Given the description of an element on the screen output the (x, y) to click on. 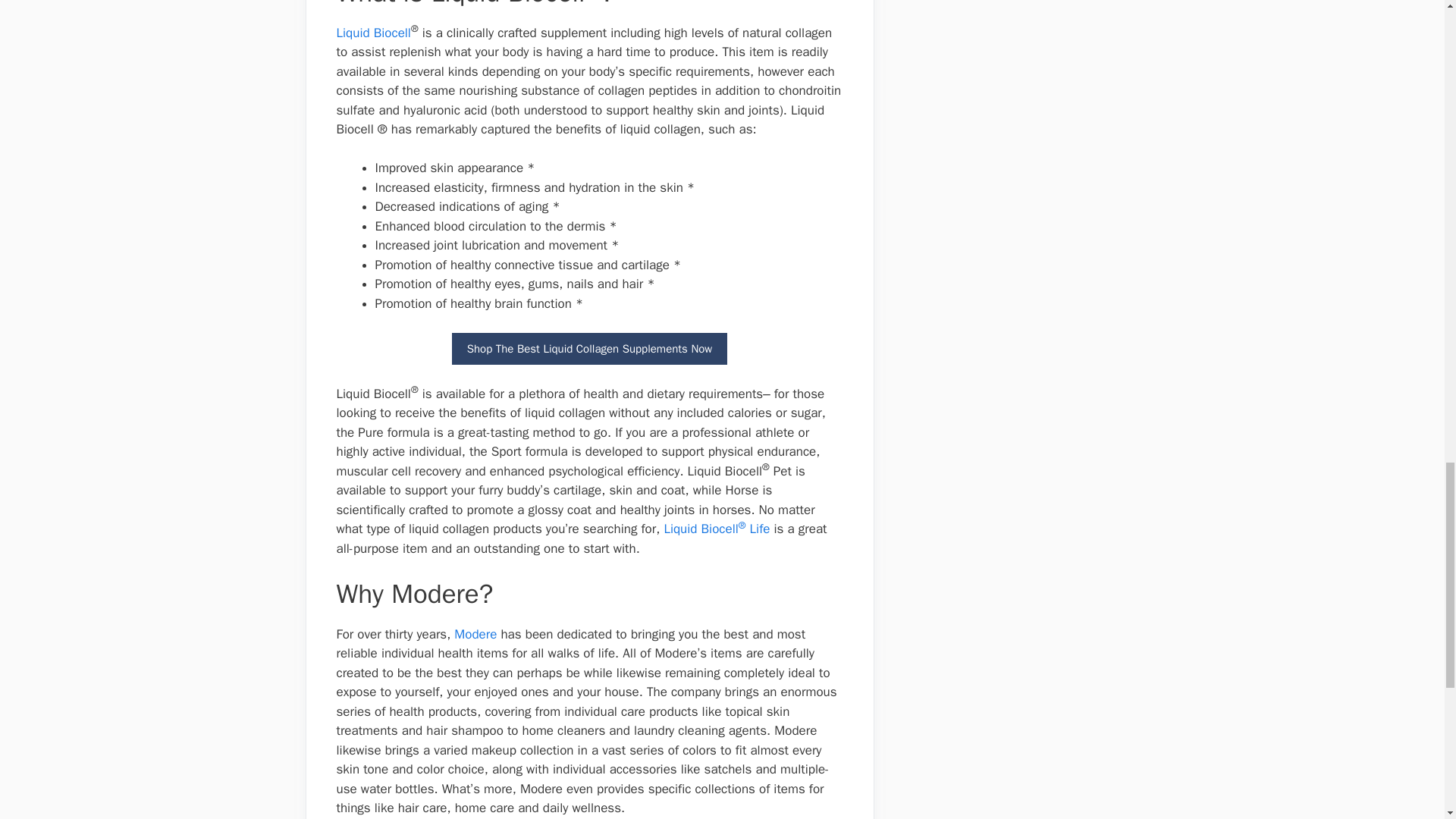
Modere (475, 634)
Shop The Best Liquid Collagen Supplements Now (589, 348)
Liquid Biocell (373, 32)
